Given the description of an element on the screen output the (x, y) to click on. 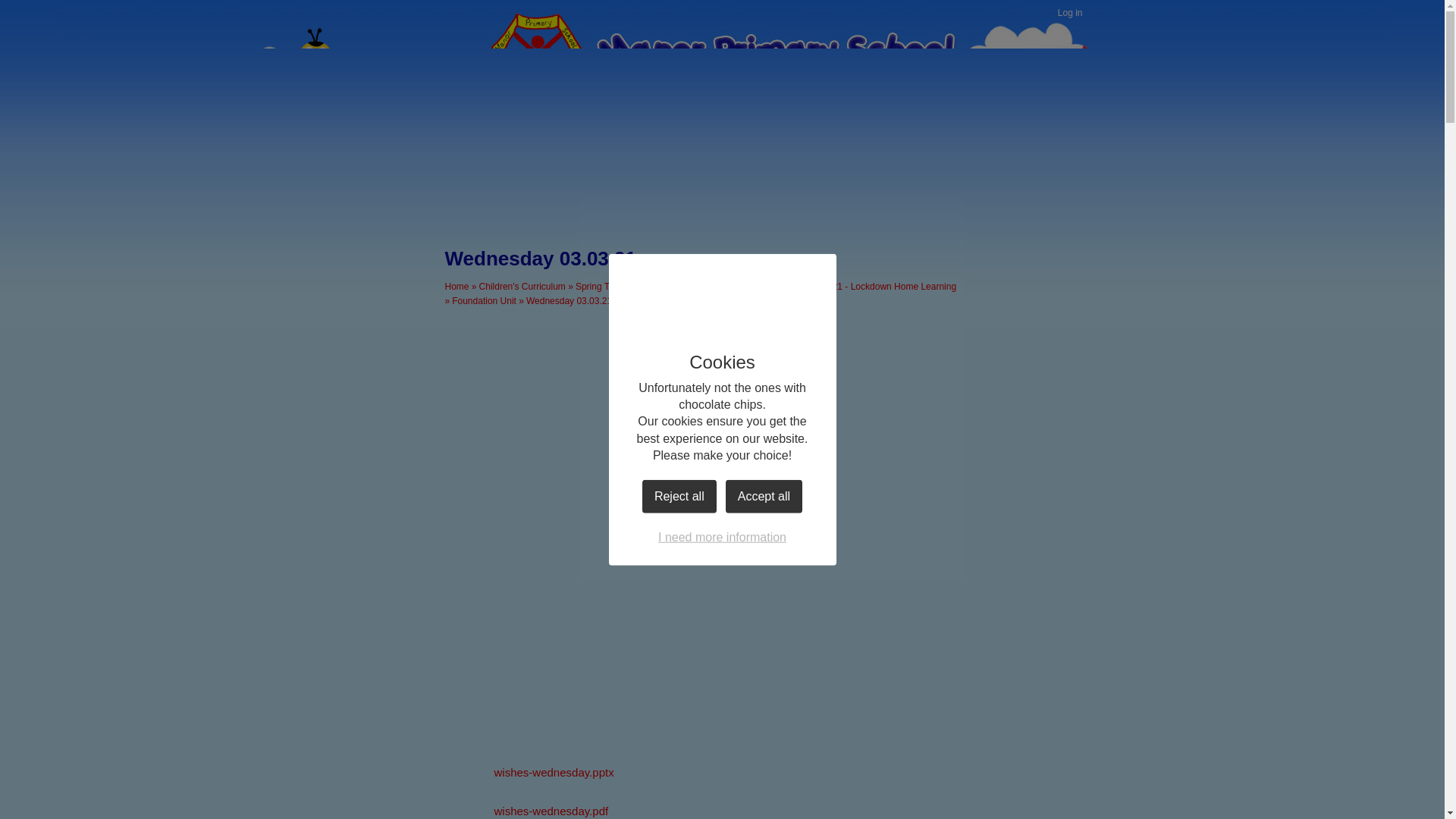
Spring Term 2022 - Lockdown Home Learning (668, 286)
Home Page (397, 56)
Spring Term 2021 - Lockdown Home Learning (863, 286)
wishes-wednesday.pptx (528, 772)
wishes-wednesday.pdf (526, 806)
Home Page (397, 56)
Foundation Unit (483, 300)
Log in (1070, 13)
Home (456, 286)
Children's Curriculum (522, 286)
Wednesday 03.03.21 (568, 300)
